Given the description of an element on the screen output the (x, y) to click on. 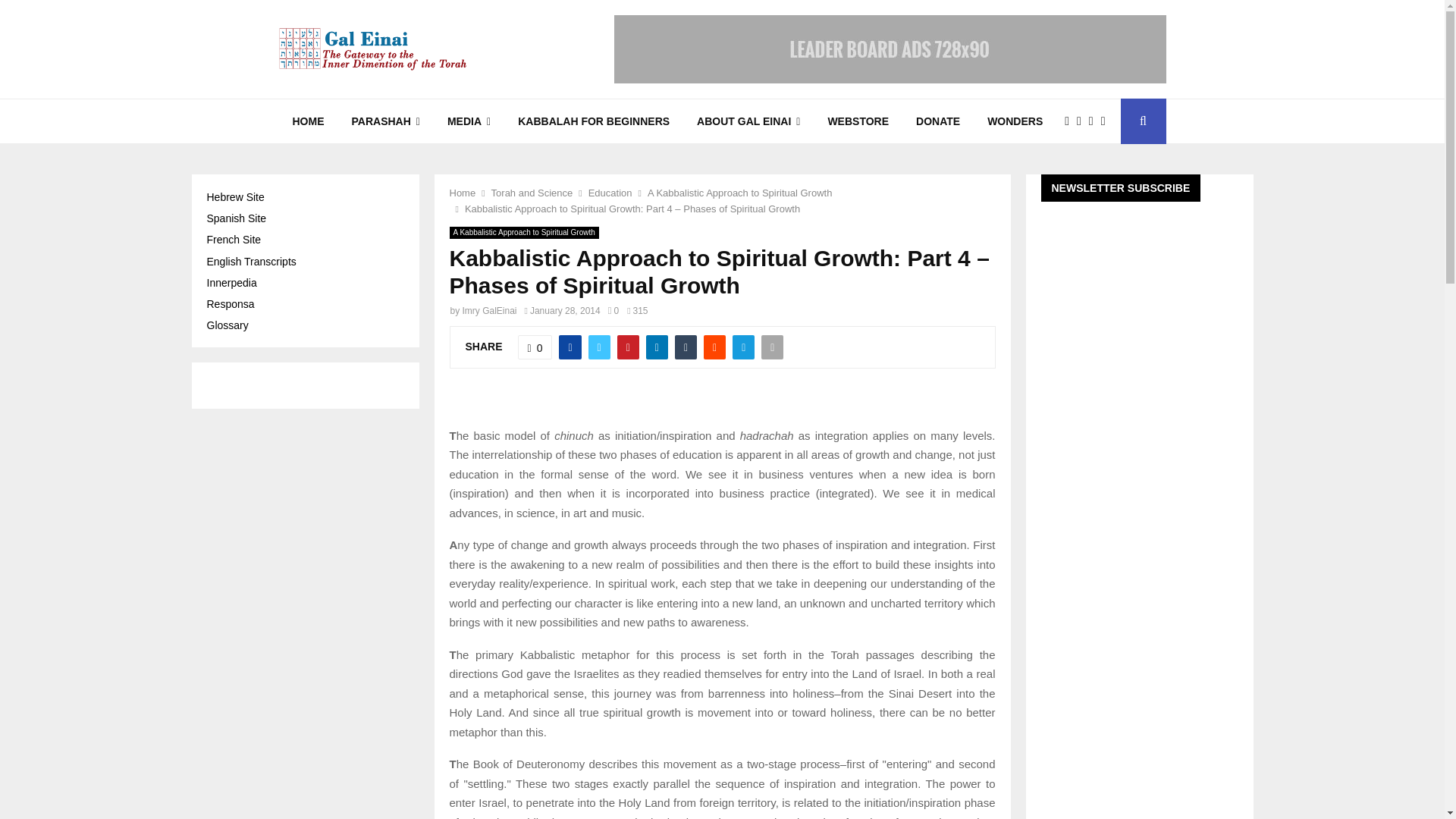
HOME (308, 121)
Torah and Science (532, 193)
KABBALAH FOR BEGINNERS (592, 121)
MEDIA (468, 121)
WEBSTORE (857, 121)
Home (462, 193)
A Kabbalistic Approach to Spiritual Growth (739, 193)
Imry GalEinai (489, 310)
ABOUT GAL EINAI (747, 121)
A Kabbalistic Approach to Spiritual Growth (523, 232)
